Given the description of an element on the screen output the (x, y) to click on. 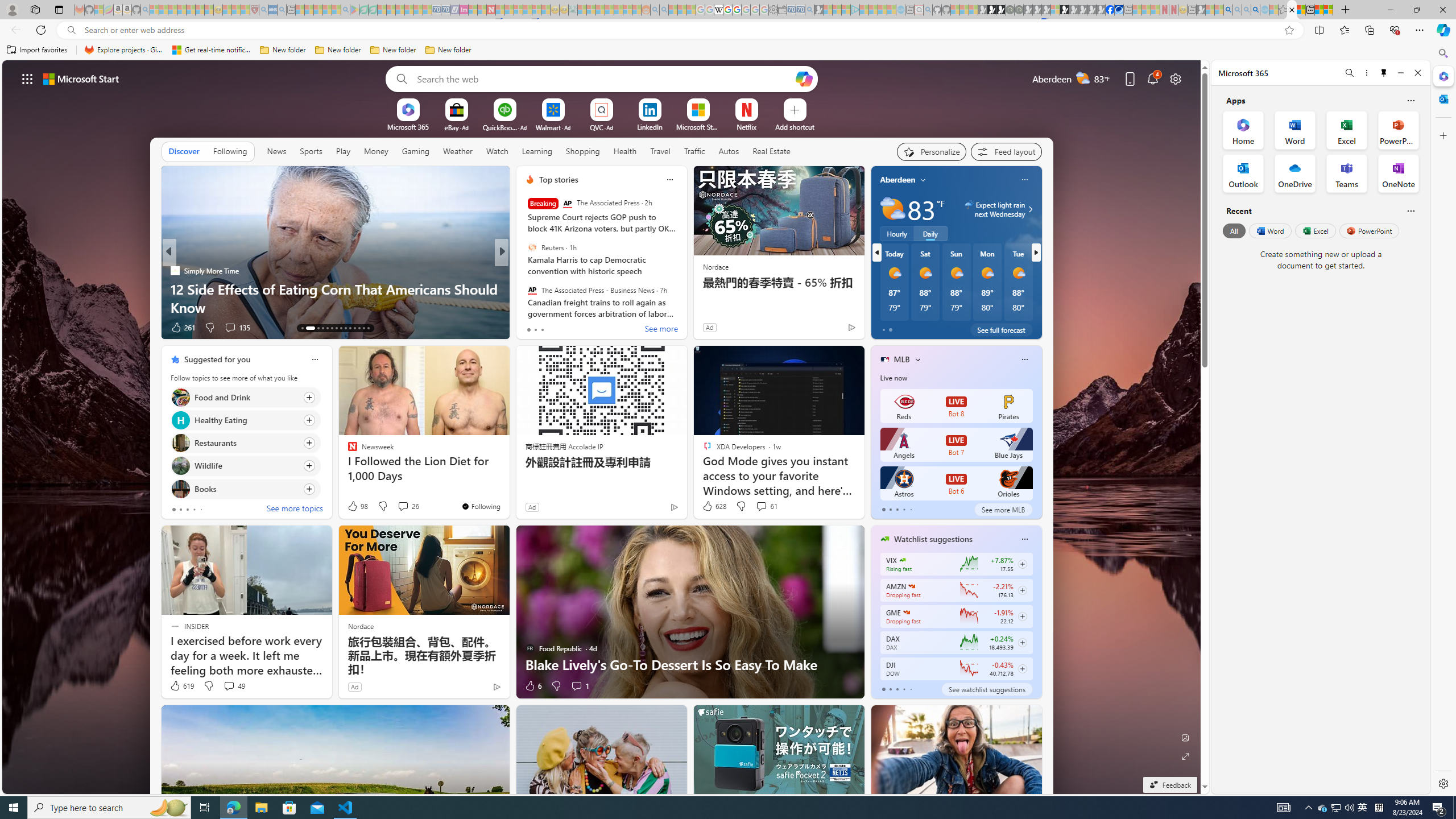
Sports (310, 151)
Utah sues federal government - Search - Sleeping (663, 9)
Daily (929, 233)
Watchlist suggestions (932, 538)
XDA Developers (524, 288)
